Given the description of an element on the screen output the (x, y) to click on. 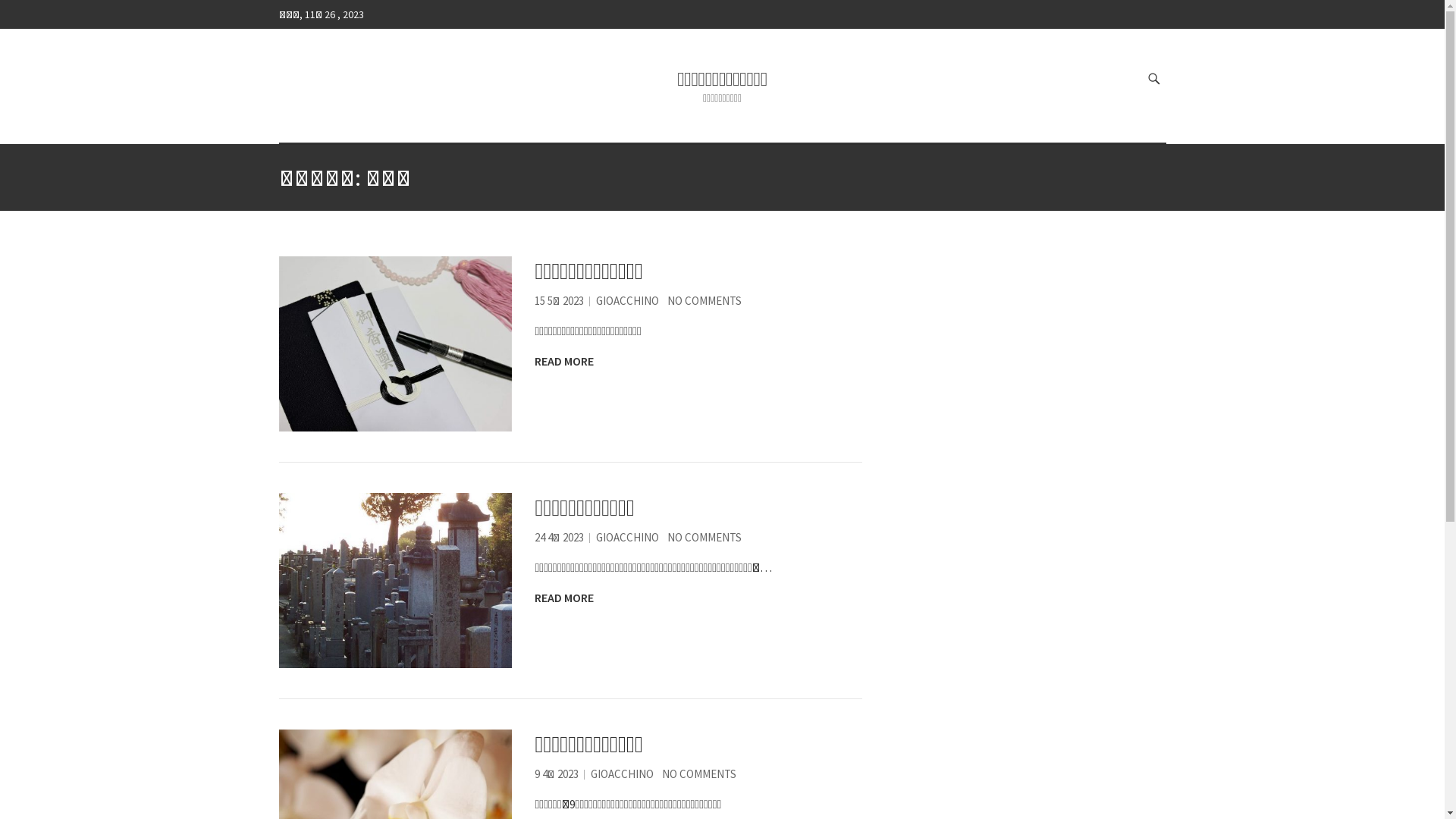
NO COMMENTS Element type: text (704, 537)
READ MORE Element type: text (563, 597)
GIOACCHINO Element type: text (621, 773)
GIOACCHINO Element type: text (627, 300)
READ MORE Element type: text (563, 360)
NO COMMENTS Element type: text (704, 300)
GIOACCHINO Element type: text (627, 537)
NO COMMENTS Element type: text (699, 773)
